Given the description of an element on the screen output the (x, y) to click on. 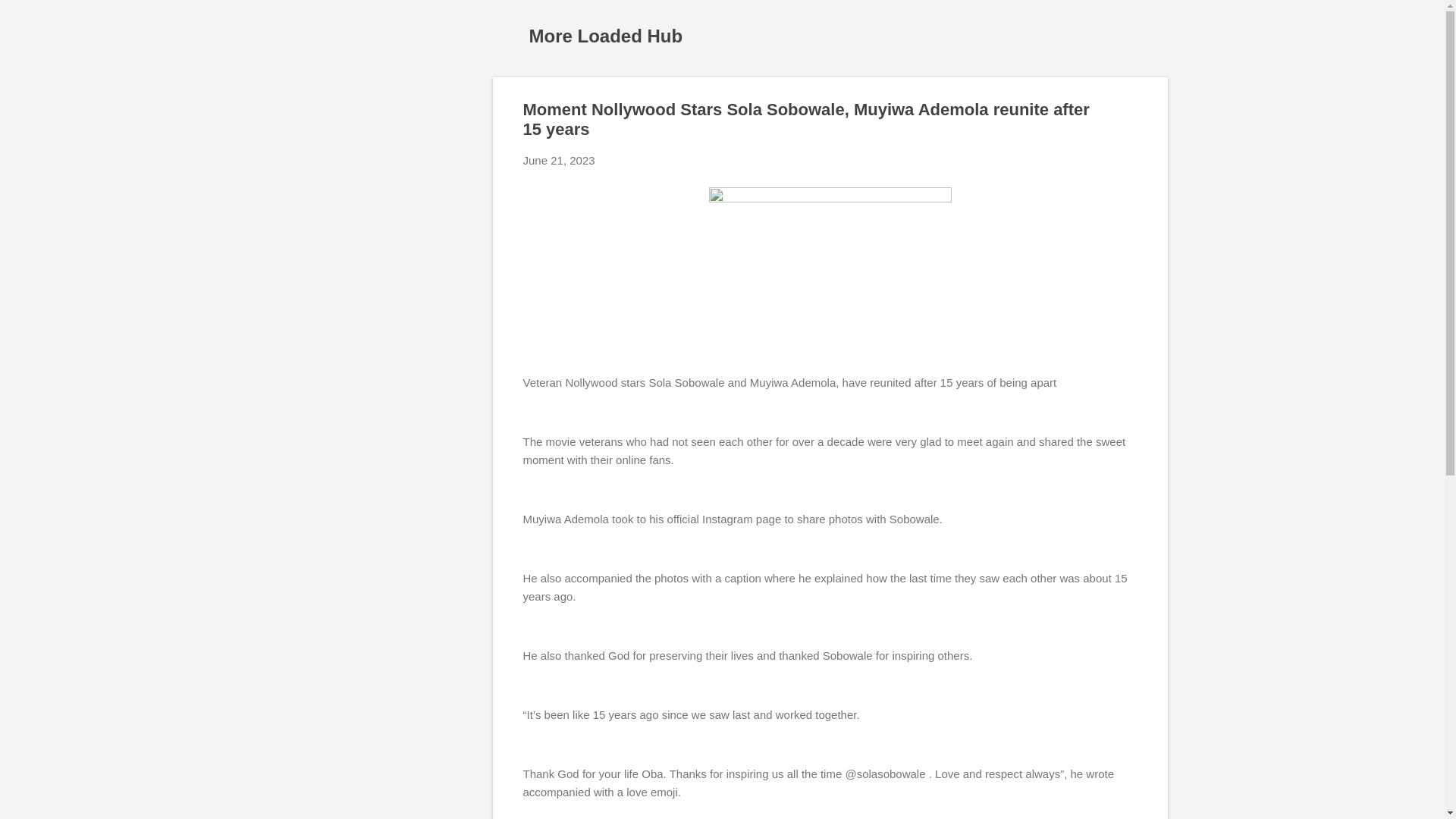
permanent link (558, 160)
June 21, 2023 (558, 160)
More Loaded Hub (605, 35)
